Given the description of an element on the screen output the (x, y) to click on. 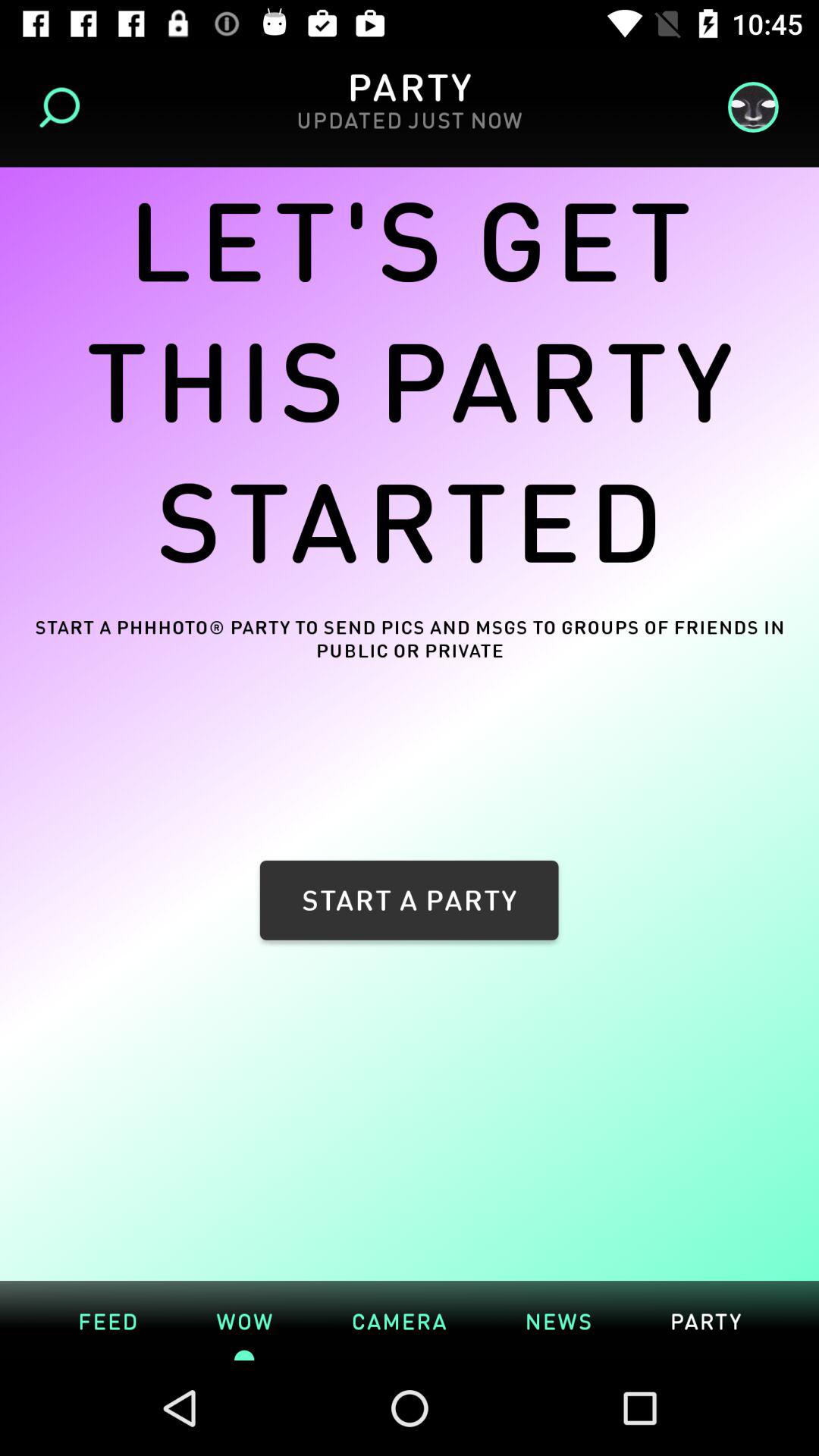
jump until the news icon (558, 1320)
